Given the description of an element on the screen output the (x, y) to click on. 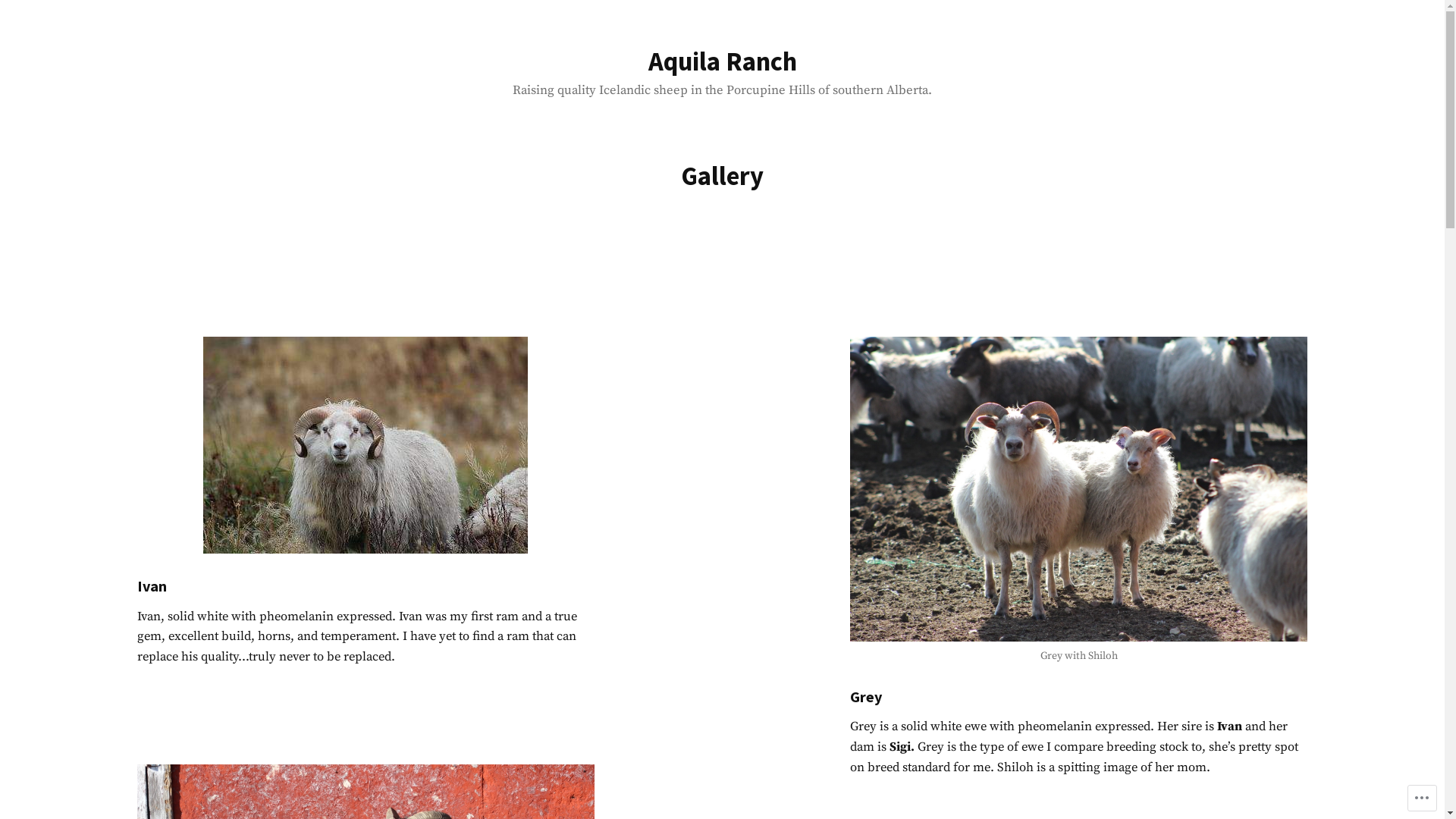
Aquila Ranch Element type: text (721, 60)
